Given the description of an element on the screen output the (x, y) to click on. 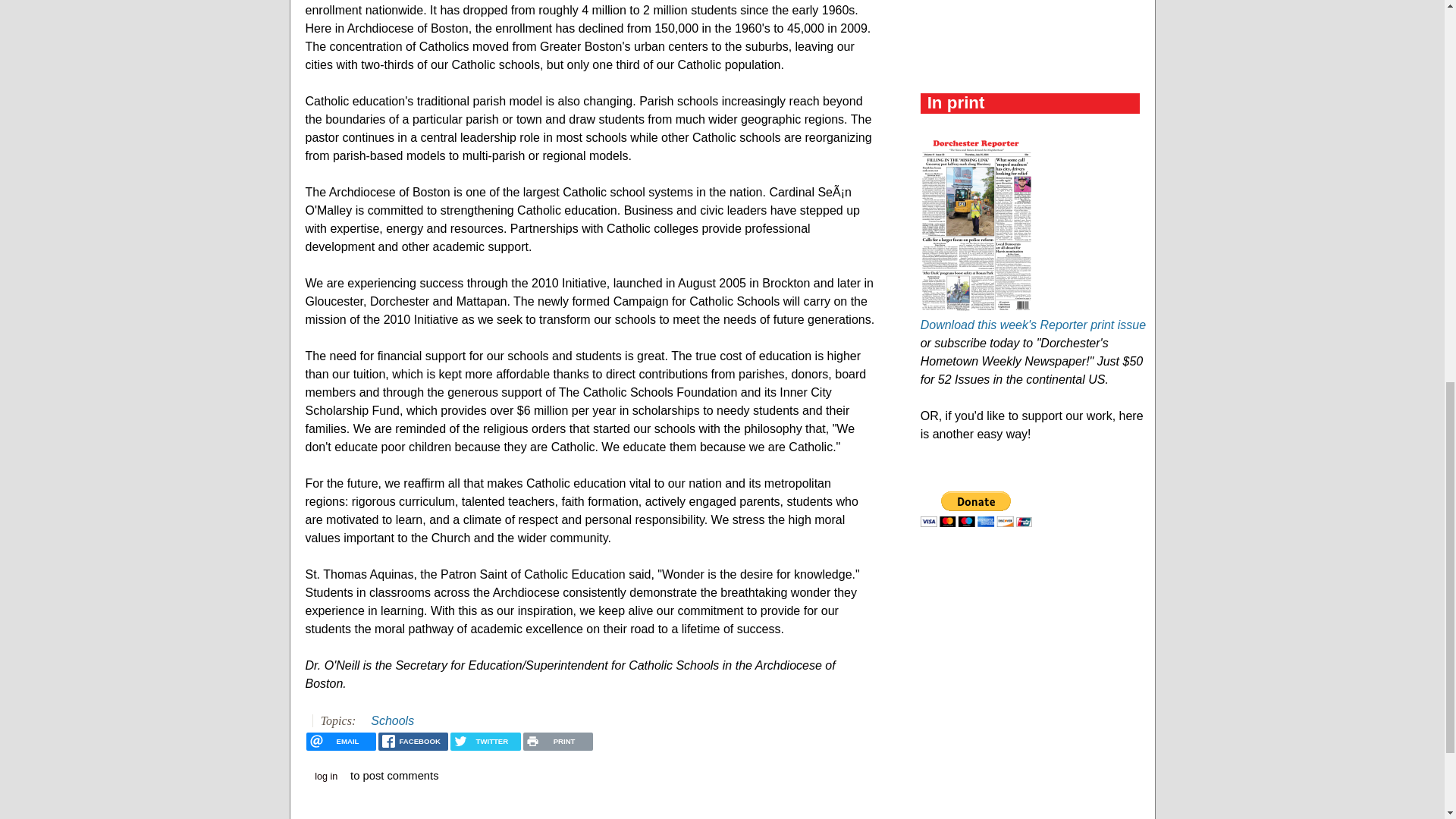
PayPal - The safer, easier way to pay online! (976, 509)
FACEBOOK (413, 741)
EMAIL (340, 741)
log in (325, 776)
Download this week's Reporter print issue (1032, 324)
TWITTER (484, 741)
PRINT (557, 741)
Schools (392, 720)
